Given the description of an element on the screen output the (x, y) to click on. 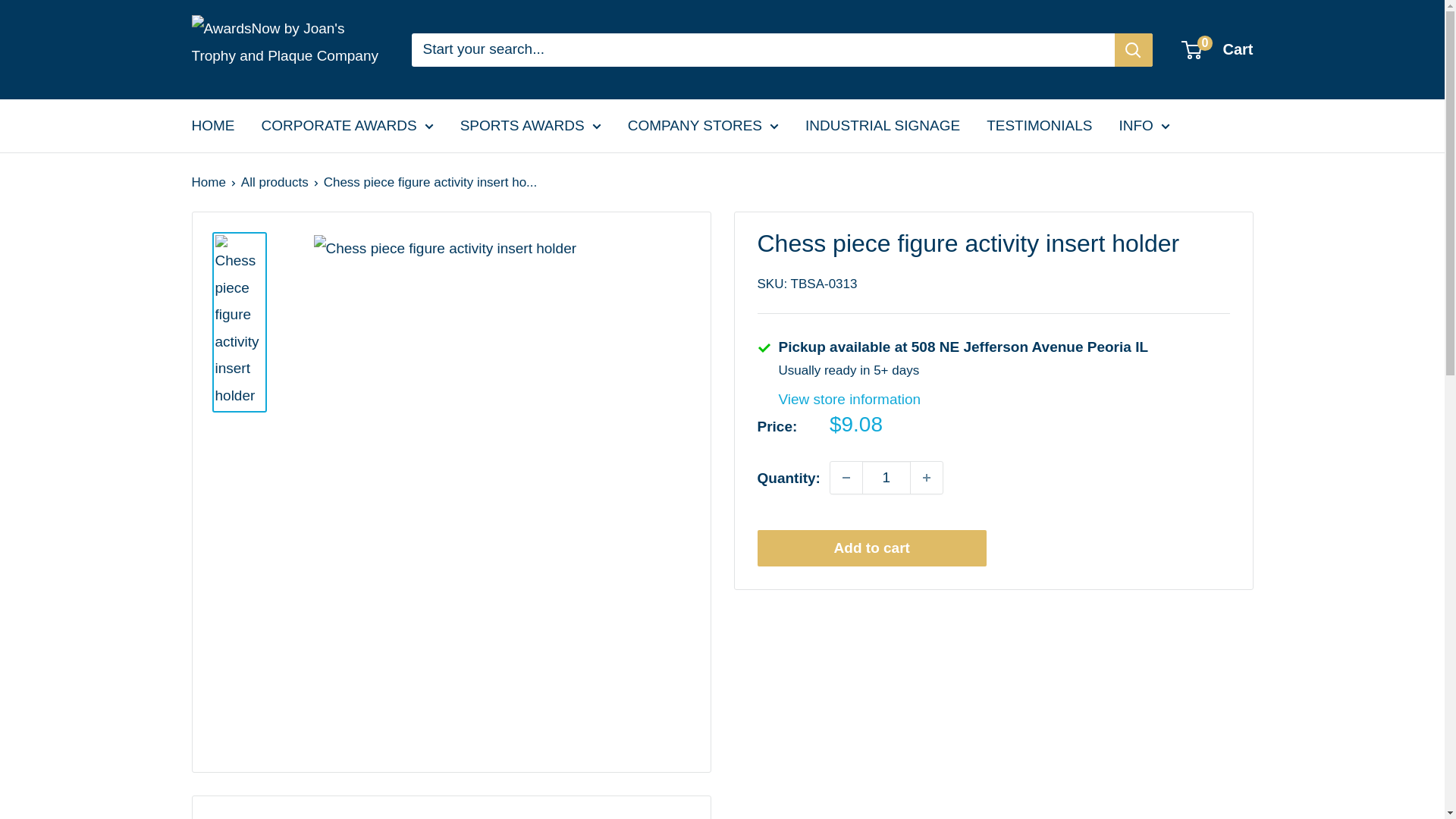
1 (886, 477)
Decrease quantity by 1 (845, 477)
Increase quantity by 1 (926, 477)
